Given the description of an element on the screen output the (x, y) to click on. 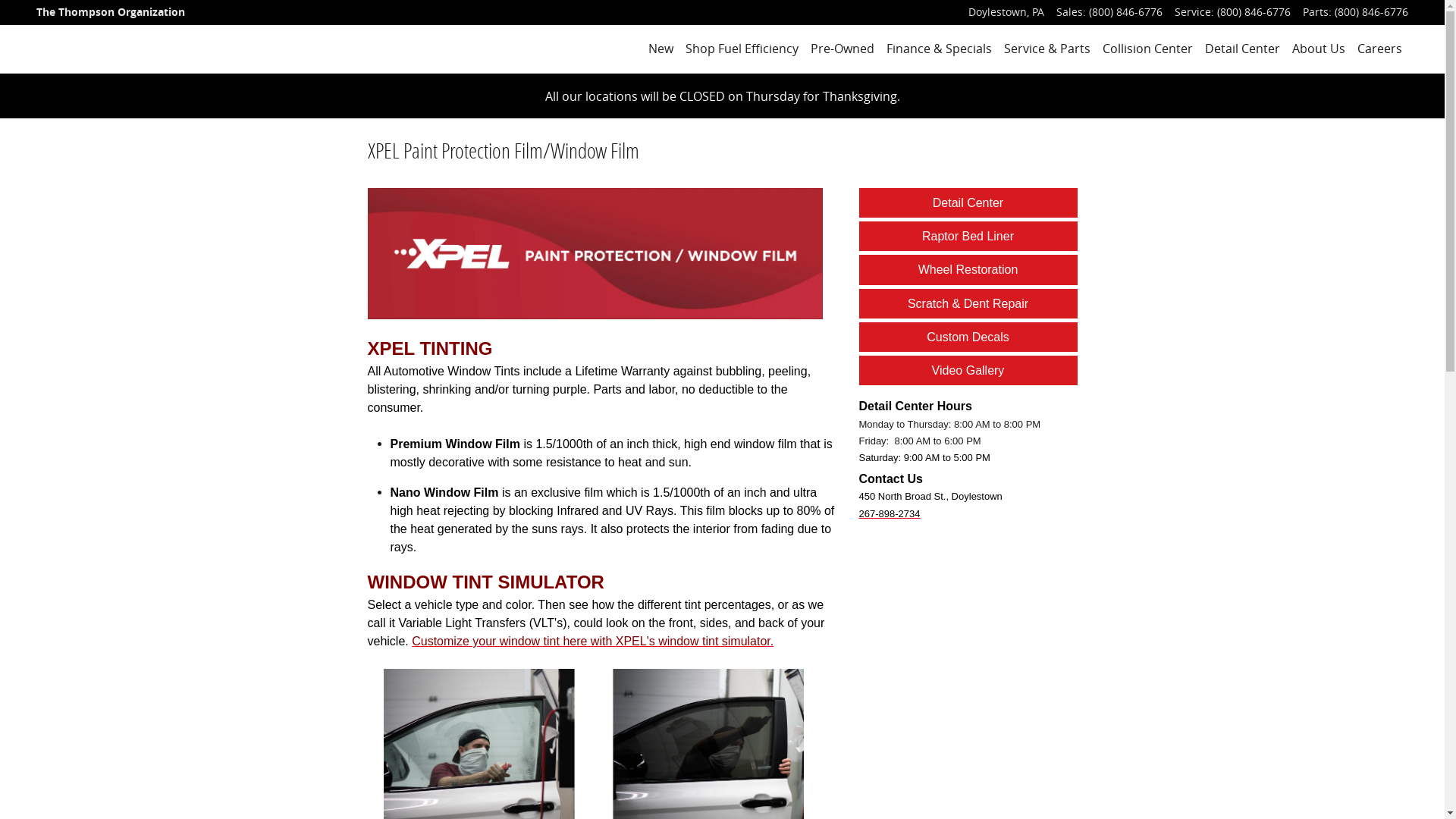
Video Gallery Element type: text (967, 370)
Detail Center Element type: text (967, 202)
About Us Element type: text (1318, 49)
Careers Element type: text (1379, 49)
Doylestown, PA Element type: text (1006, 11)
Scratch & Dent Repair Element type: text (967, 303)
New Element type: text (660, 49)
Finance & Specials Element type: text (938, 49)
Collision Center Element type: text (1147, 49)
267-898-2734 Element type: text (888, 512)
Wheel Restoration Element type: text (968, 269)
Raptor Bed Liner Element type: text (967, 235)
Service & Parts Element type: text (1047, 49)
Custom Decals Element type: text (967, 336)
Pre-Owned Element type: text (842, 49)
Detail Center Element type: text (1242, 49)
Shop Fuel Efficiency Element type: text (741, 49)
The Thompson Organization Element type: text (110, 11)
xpel paint protection window film Element type: hover (594, 253)
Skip to main content Element type: text (0, 0)
